Given the description of an element on the screen output the (x, y) to click on. 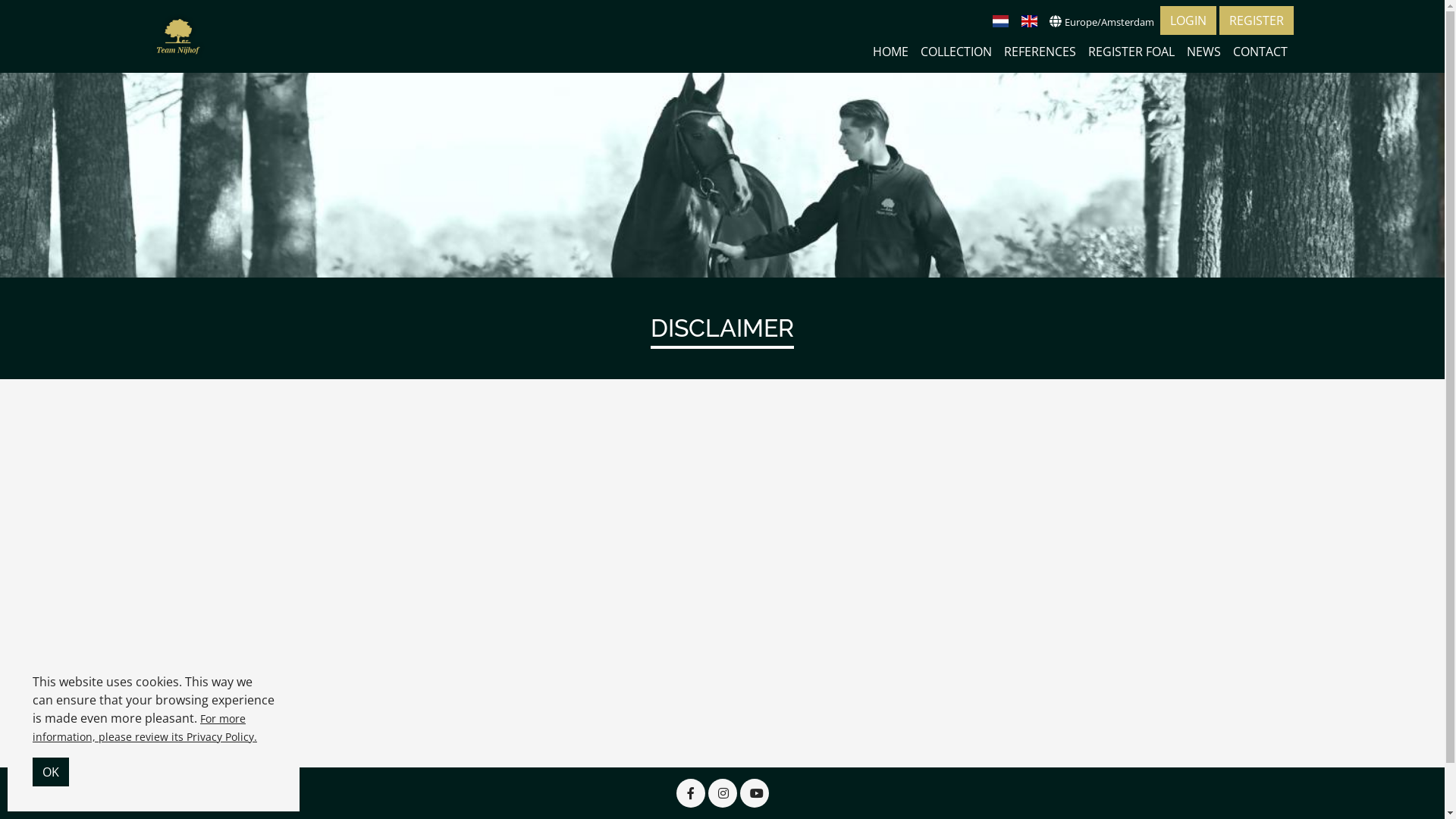
REFERENCES Element type: text (1039, 51)
CONTACT Element type: text (1259, 51)
REGISTER FOAL Element type: text (1130, 51)
LOGIN Element type: text (1188, 20)
COLLECTION Element type: text (955, 51)
REGISTER Element type: text (1256, 20)
Europe/Amsterdam Element type: text (1101, 21)
For more information, please review its Privacy Policy. Element type: text (144, 727)
NEWS Element type: text (1202, 51)
HOME Element type: text (889, 51)
OK Element type: text (50, 771)
